Given the description of an element on the screen output the (x, y) to click on. 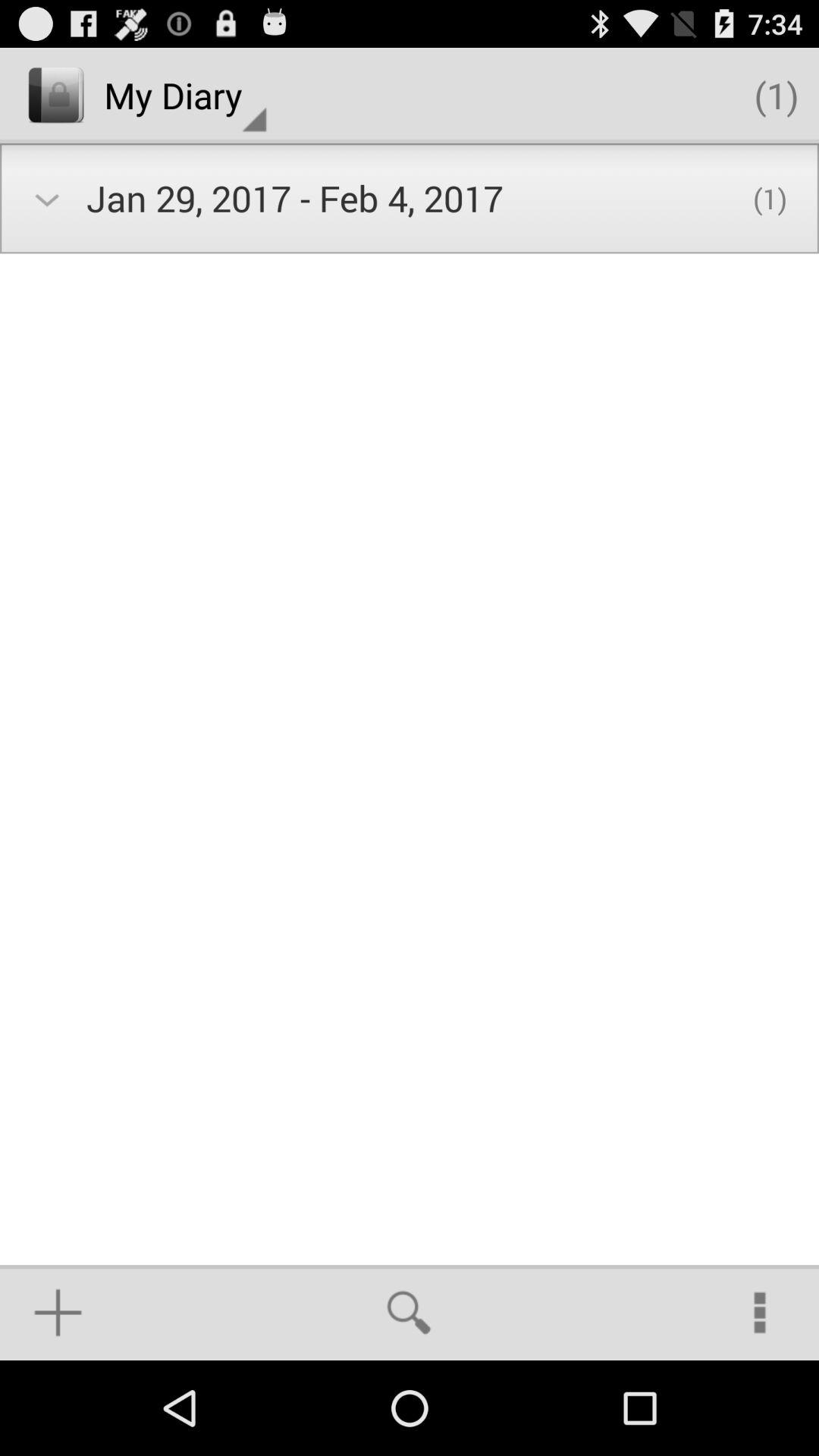
click icon above the jan 29 2017 (185, 95)
